Given the description of an element on the screen output the (x, y) to click on. 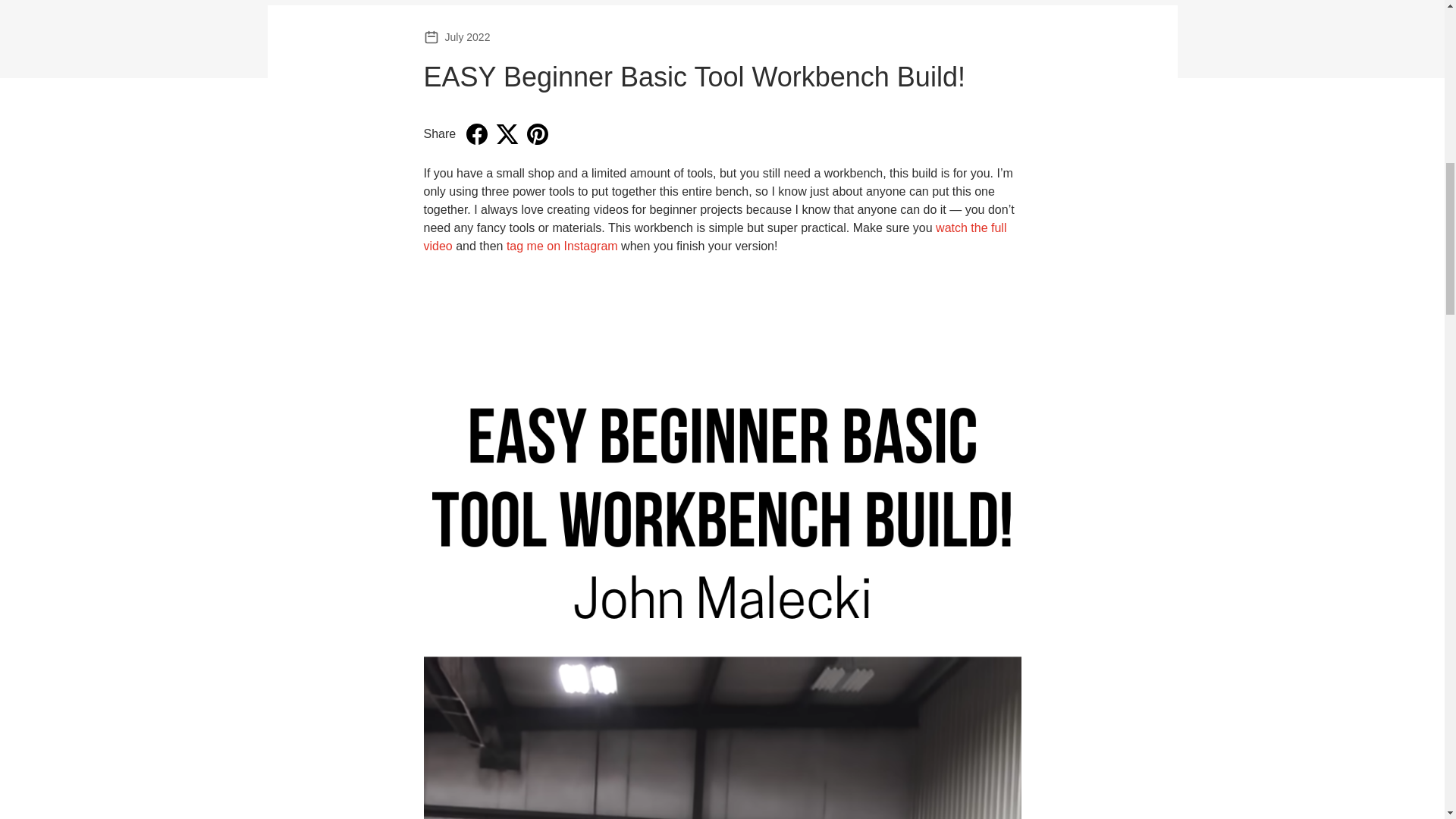
Pin on Pinterest (537, 134)
Tweet on Twitter (507, 134)
Share on Facebook (476, 134)
